Given the description of an element on the screen output the (x, y) to click on. 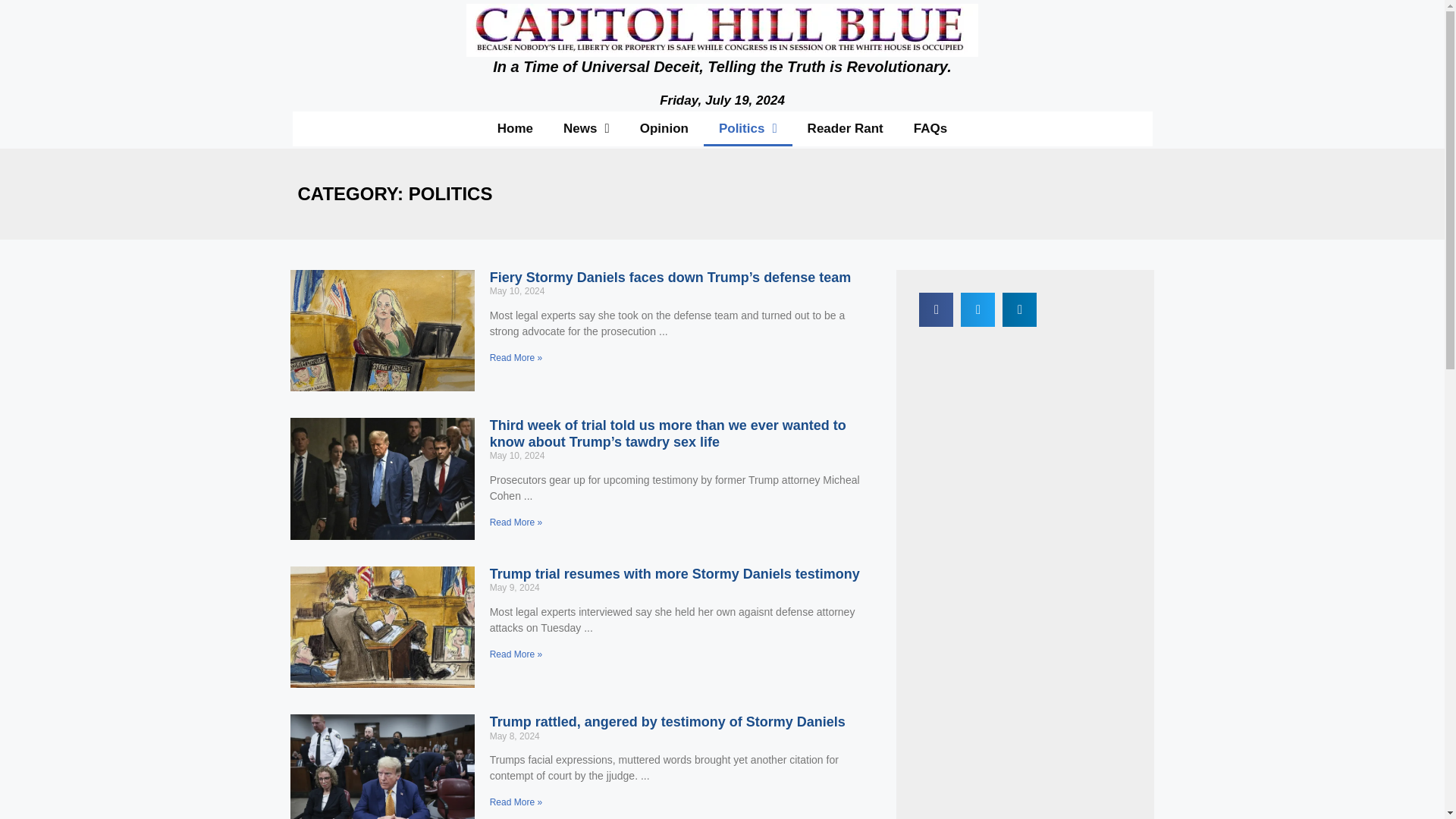
Trump trial resumes with more Stormy Daniels testimony (674, 572)
CATEGORY: POLITICS (394, 193)
Home (514, 127)
FAQs (930, 127)
Opinion (663, 127)
Trump rattled, angered by testimony of Stormy Daniels (667, 721)
Reader Rant (845, 127)
Politics (747, 127)
News (586, 127)
